Given the description of an element on the screen output the (x, y) to click on. 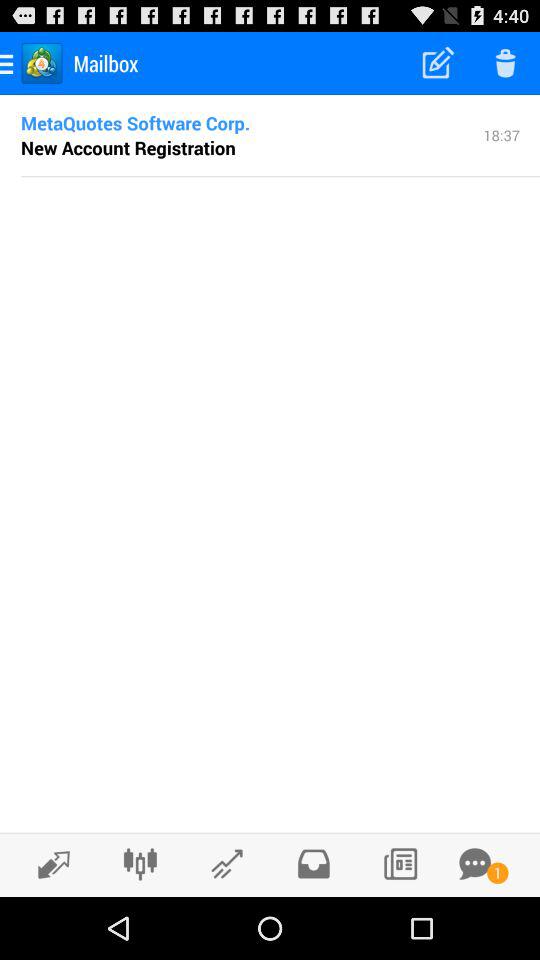
reply to email (226, 863)
